Given the description of an element on the screen output the (x, y) to click on. 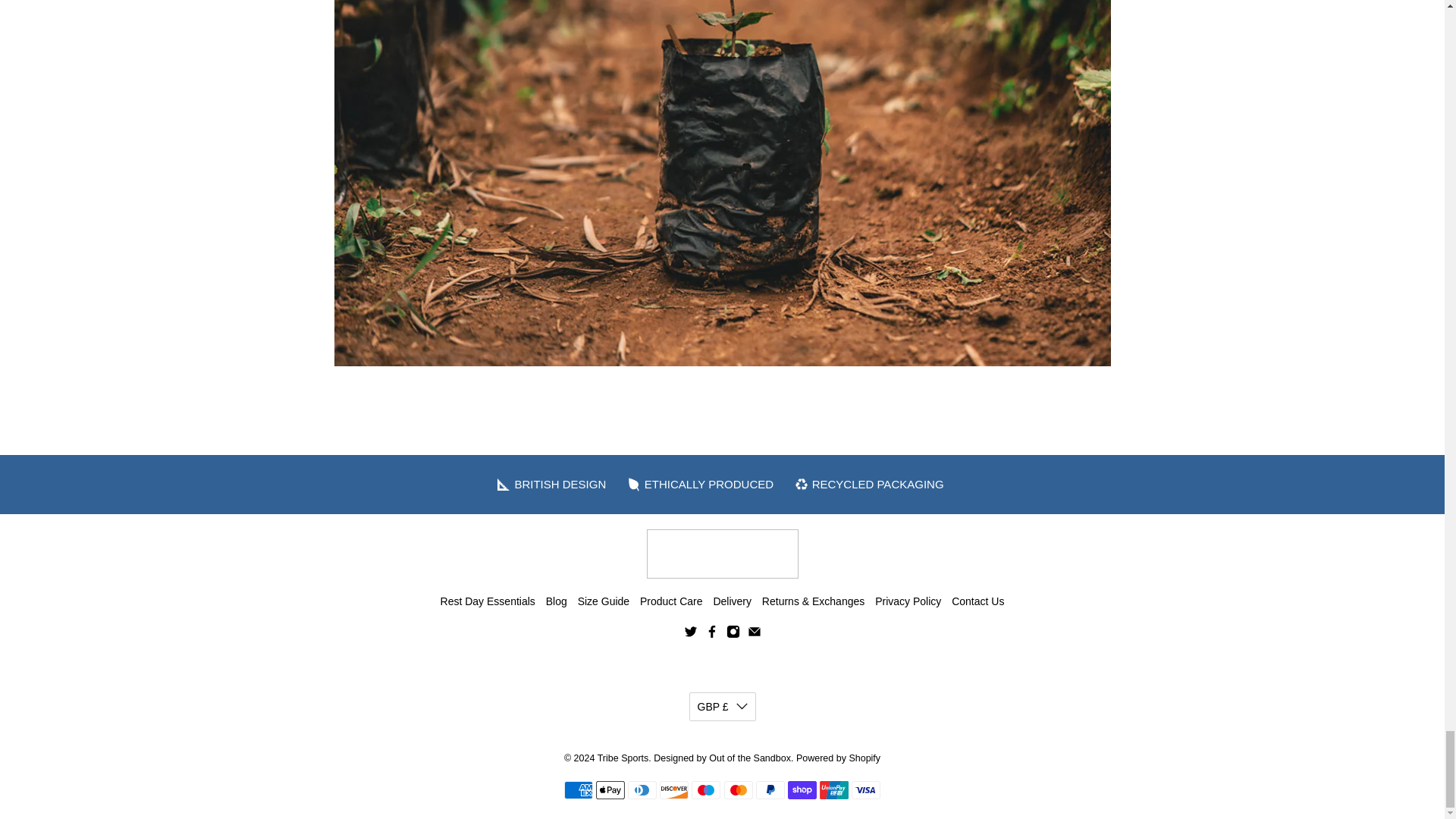
Tribe Sports on Facebook (711, 634)
Rest Day Essentials (488, 601)
Flex Shopify Theme by Out of the Sandbox (721, 757)
Email Tribe Sports (754, 634)
PayPal (769, 790)
Diners Club (641, 790)
Product Care (670, 601)
Tribe Sports on Twitter (690, 634)
Tribe Sports (721, 553)
Contact Us (978, 601)
